Given the description of an element on the screen output the (x, y) to click on. 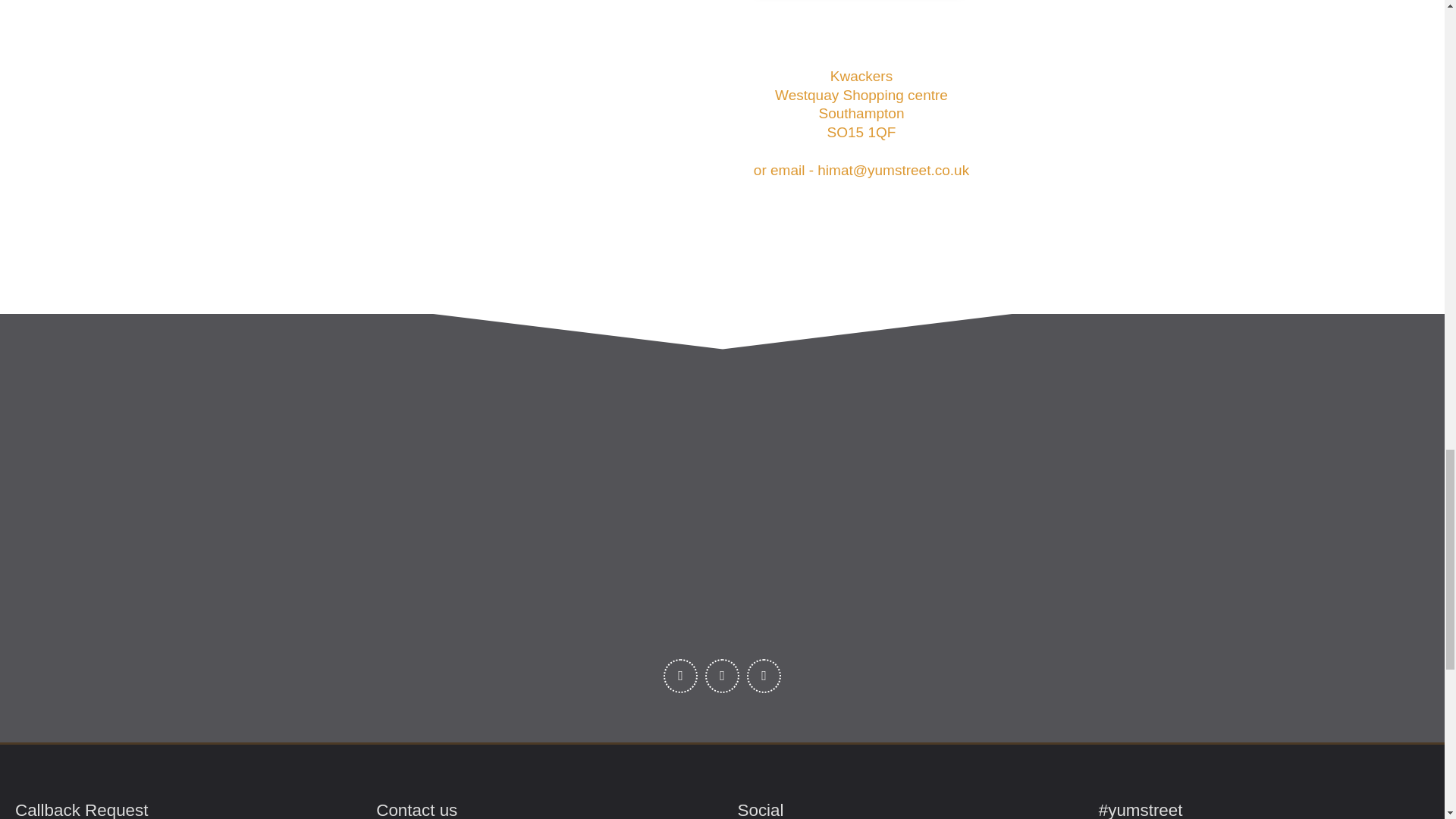
Facebook-f (680, 675)
Pinterest (763, 675)
Westquay Shopping centre, Southampton, So15 1QF (574, 139)
Instagram (721, 675)
